Given the description of an element on the screen output the (x, y) to click on. 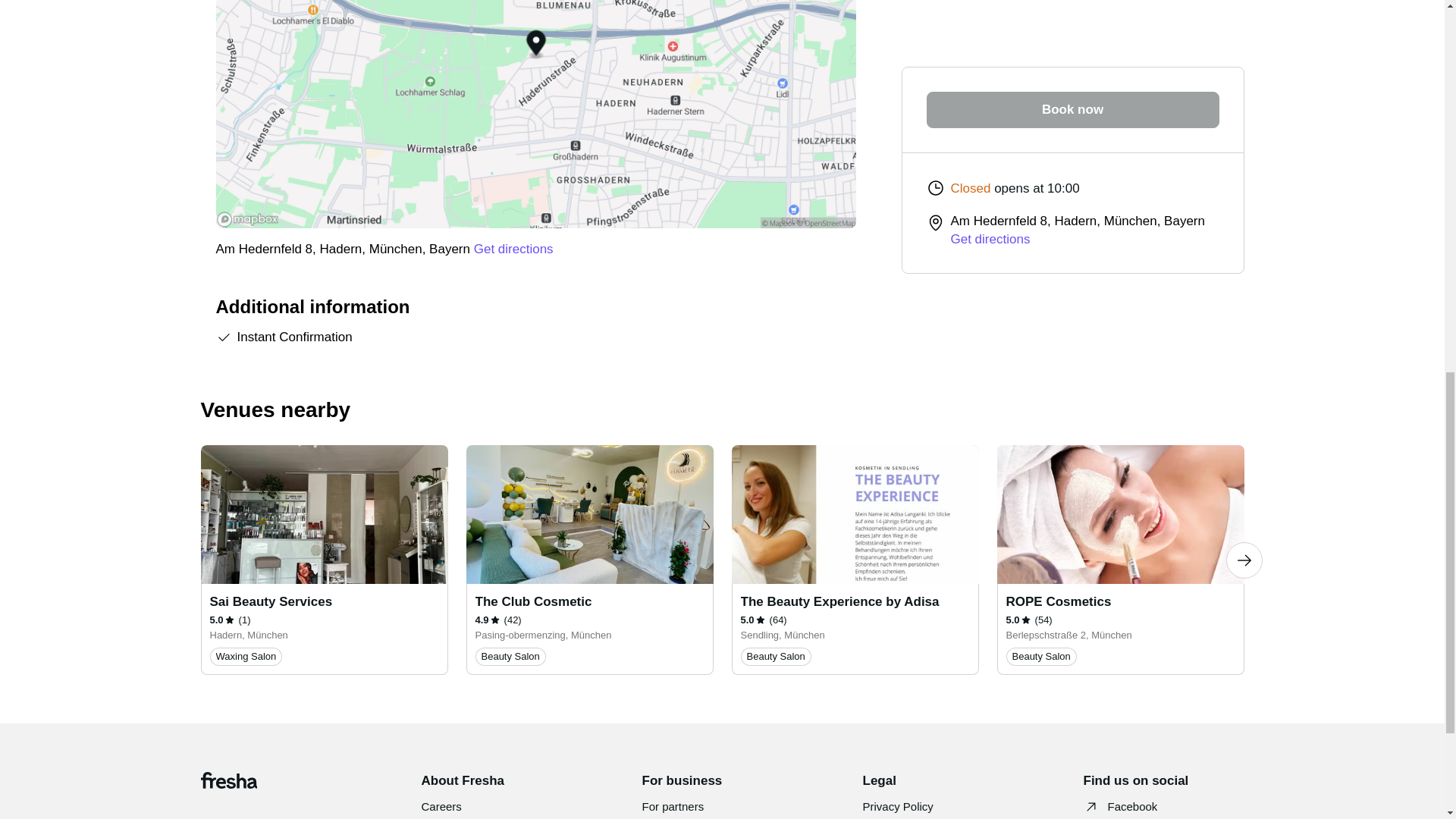
Careers (441, 806)
Get directions (513, 248)
For partners (672, 806)
